Given the description of an element on the screen output the (x, y) to click on. 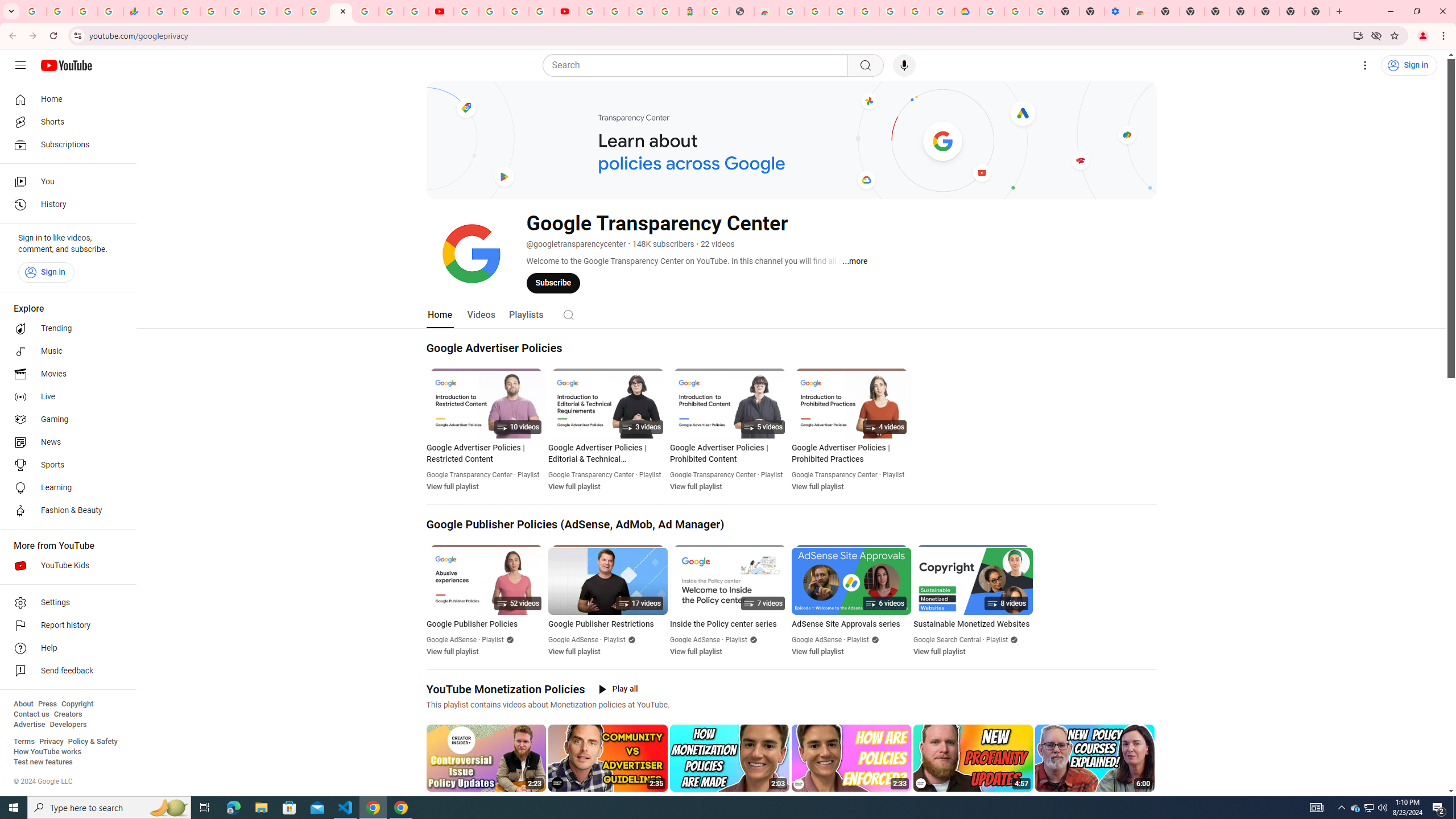
Google Advertiser Policies | Restricted Content (486, 453)
Turn cookies on or off - Computer - Google Account Help (1042, 11)
YouTube (440, 11)
Sign in - Google Accounts (991, 11)
Sign in - Google Accounts (616, 11)
Action menu (1146, 800)
Sign in - Google Accounts (365, 11)
Subscribe (552, 282)
Videos (481, 314)
Content Creator Programs & Opportunities - YouTube Creators (565, 11)
